Given the description of an element on the screen output the (x, y) to click on. 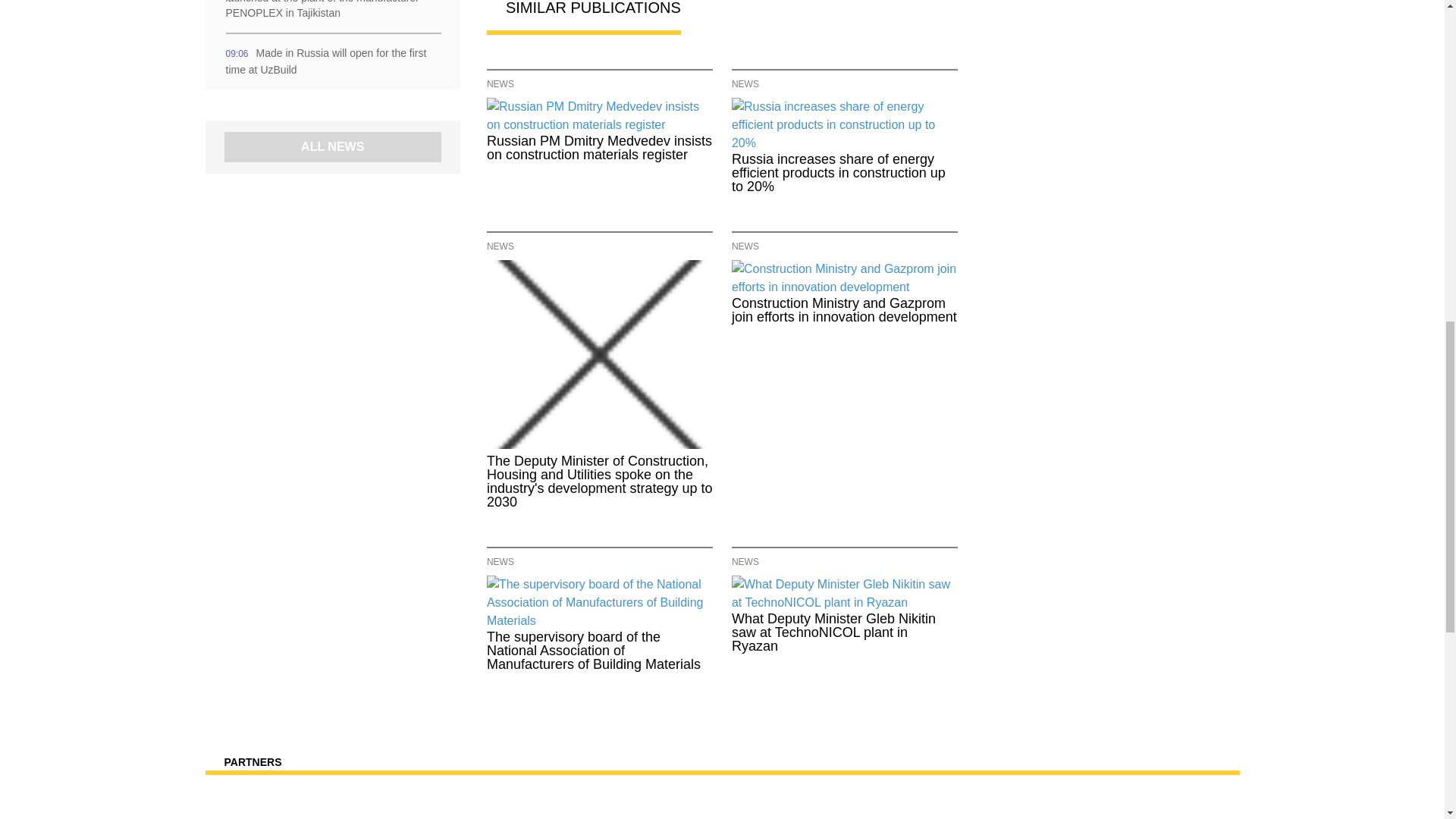
09:06Made in Russia will open for the first time at UzBuild (332, 61)
ALL NEWS (332, 146)
